Given the description of an element on the screen output the (x, y) to click on. 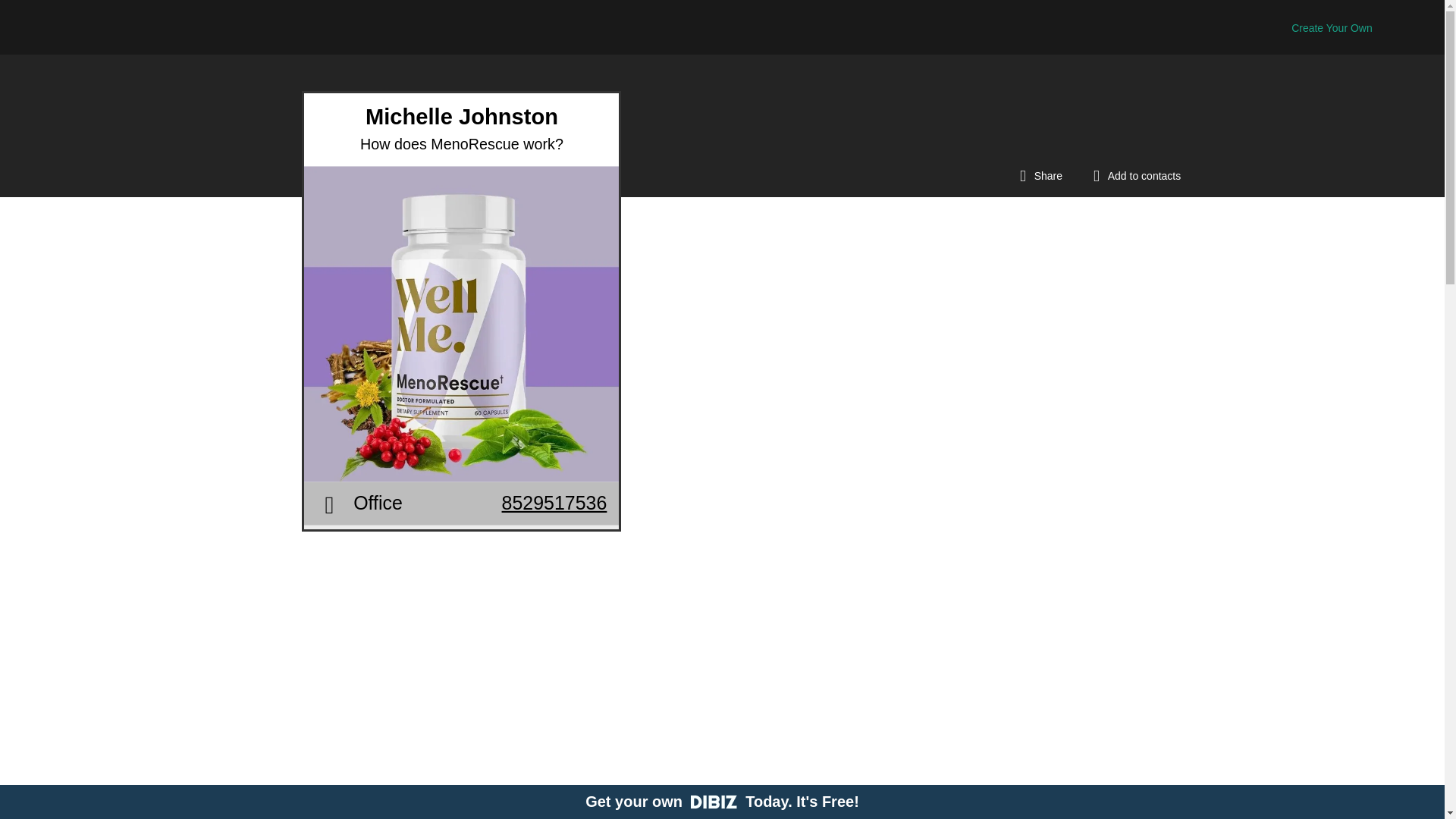
Create Your Own (1332, 28)
Add to contacts (1132, 175)
8529517536 (595, 523)
